Given the description of an element on the screen output the (x, y) to click on. 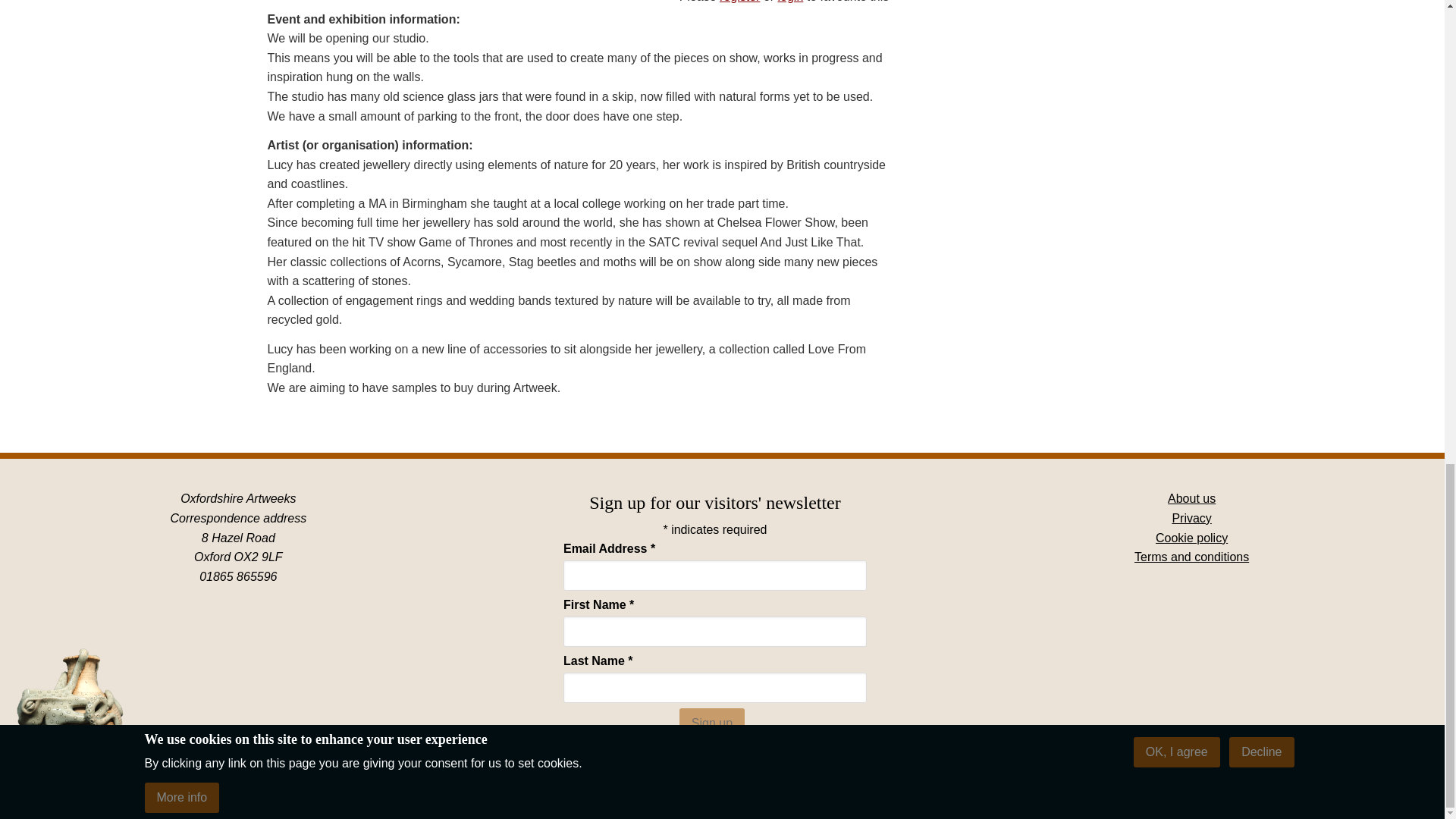
register (739, 1)
login (790, 1)
Sign up (711, 723)
Visit Abby Mason's venue (760, 756)
